Given the description of an element on the screen output the (x, y) to click on. 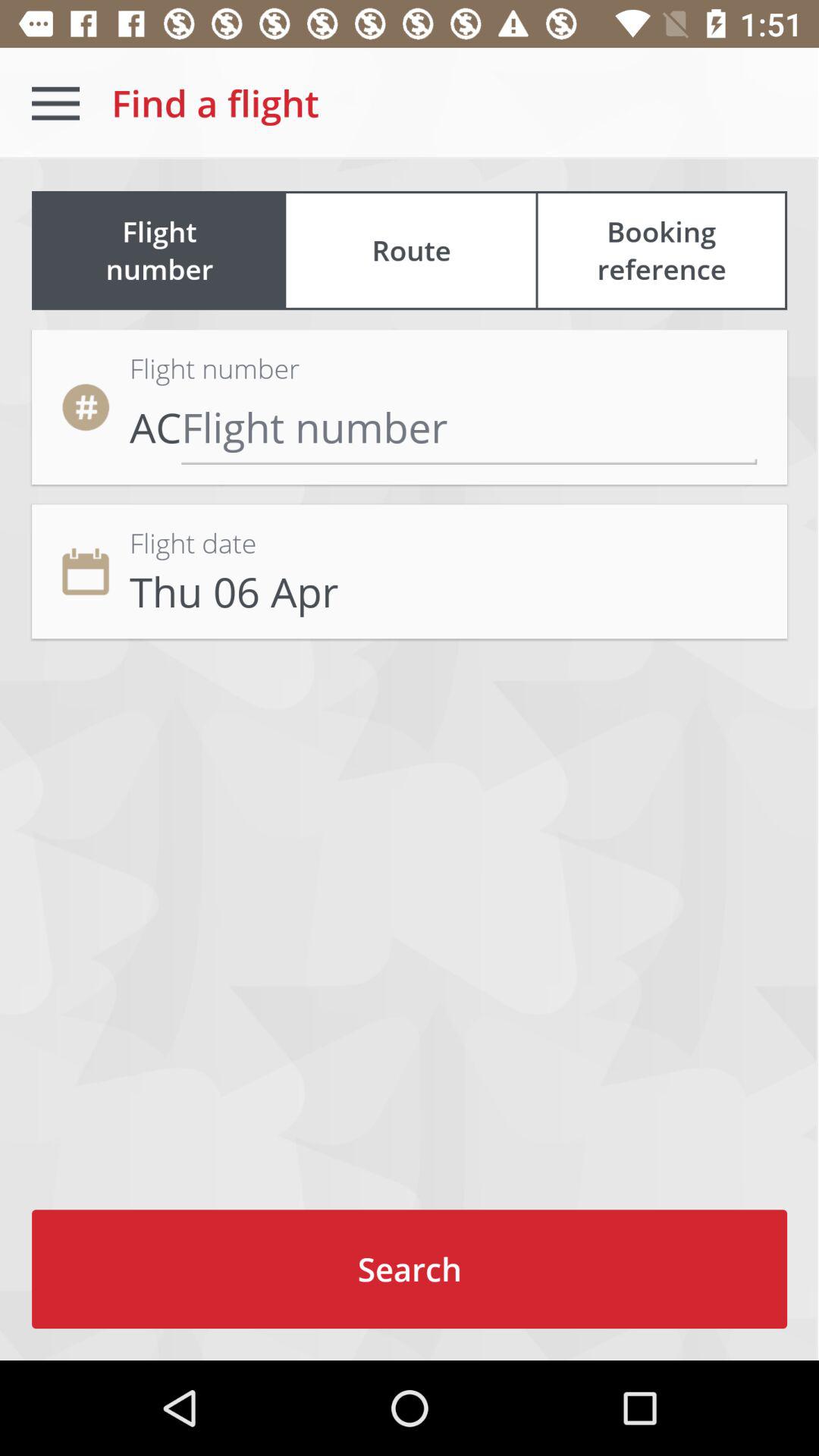
turn on icon above flight
number icon (55, 103)
